Given the description of an element on the screen output the (x, y) to click on. 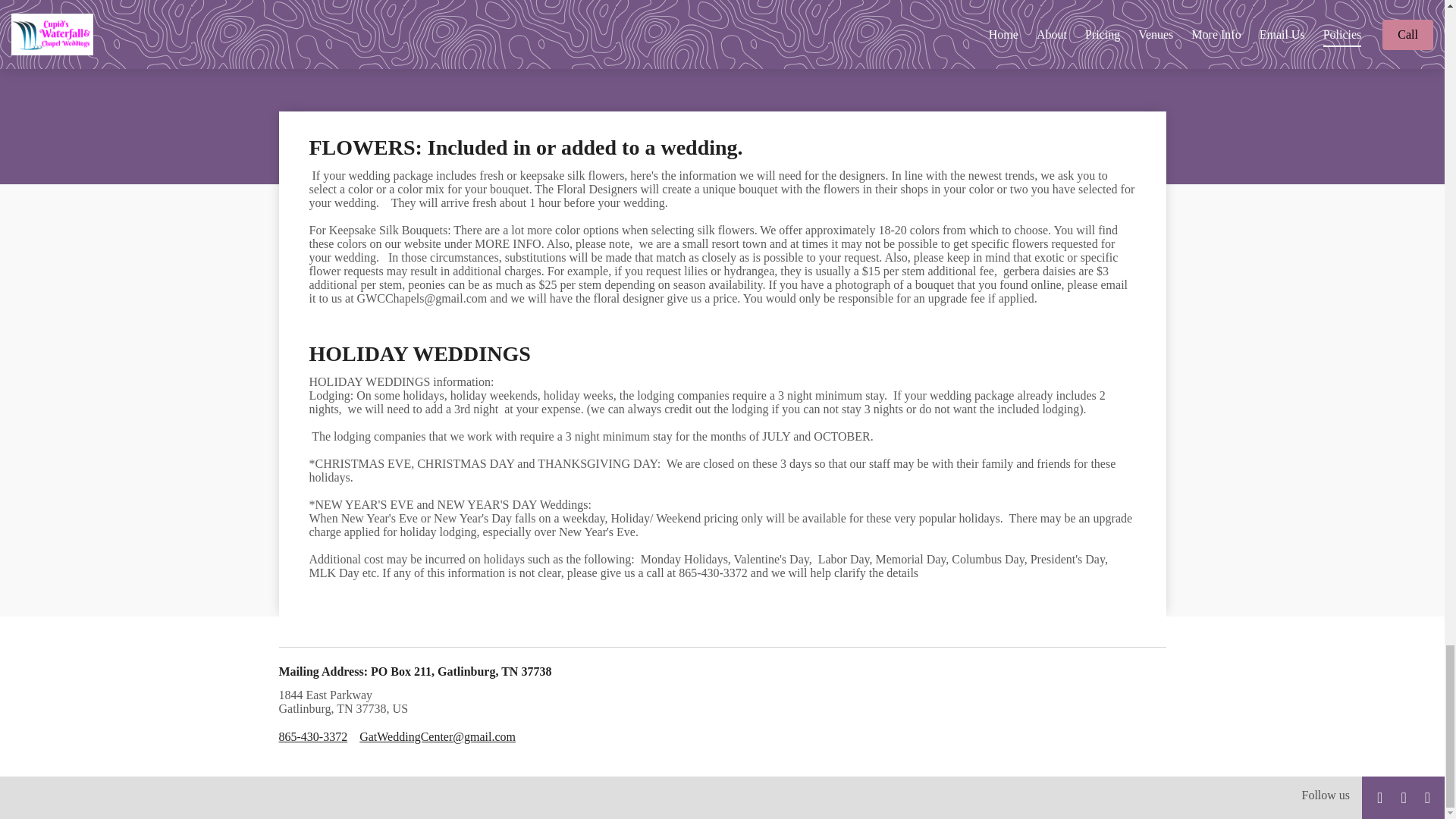
865-430-3372 (313, 737)
